Given the description of an element on the screen output the (x, y) to click on. 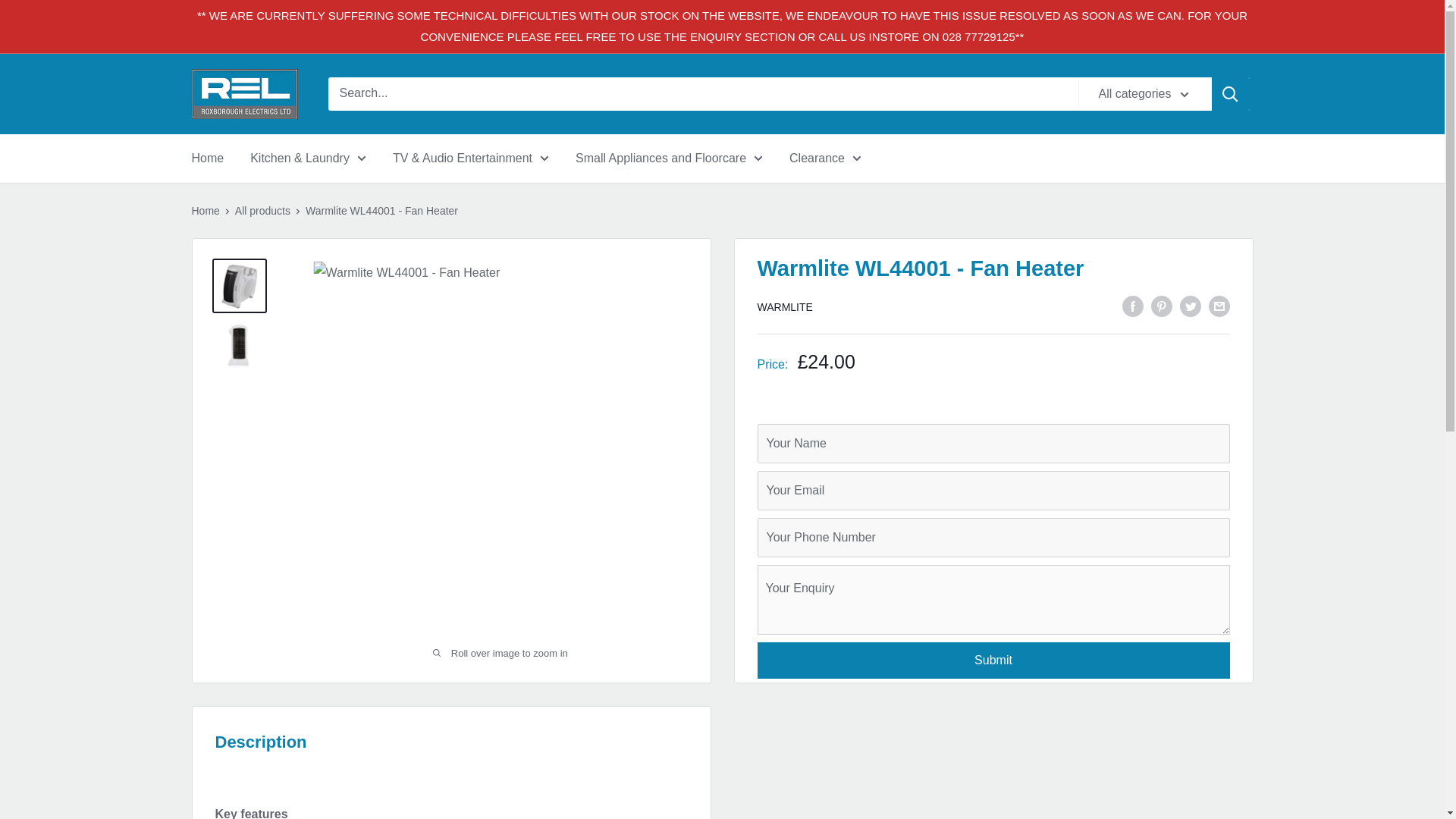
Submit (992, 660)
